Given the description of an element on the screen output the (x, y) to click on. 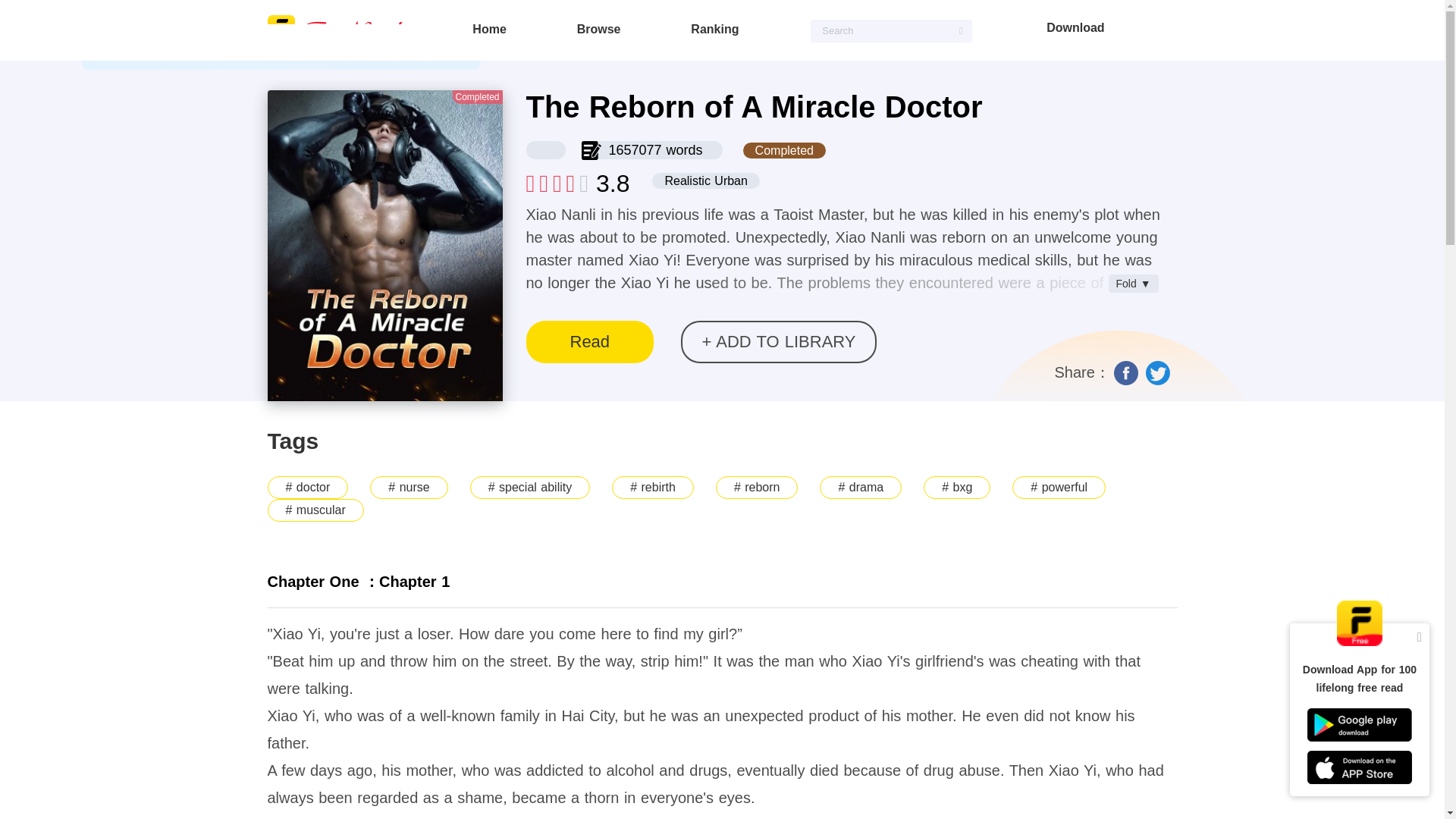
Ranking (714, 29)
powerful (1058, 486)
Browse (598, 29)
Home (488, 29)
Home (488, 29)
ADD TO LIBRARY (778, 341)
special ability (529, 486)
Ranking (714, 29)
Read (590, 341)
rebirth (652, 486)
